Given the description of an element on the screen output the (x, y) to click on. 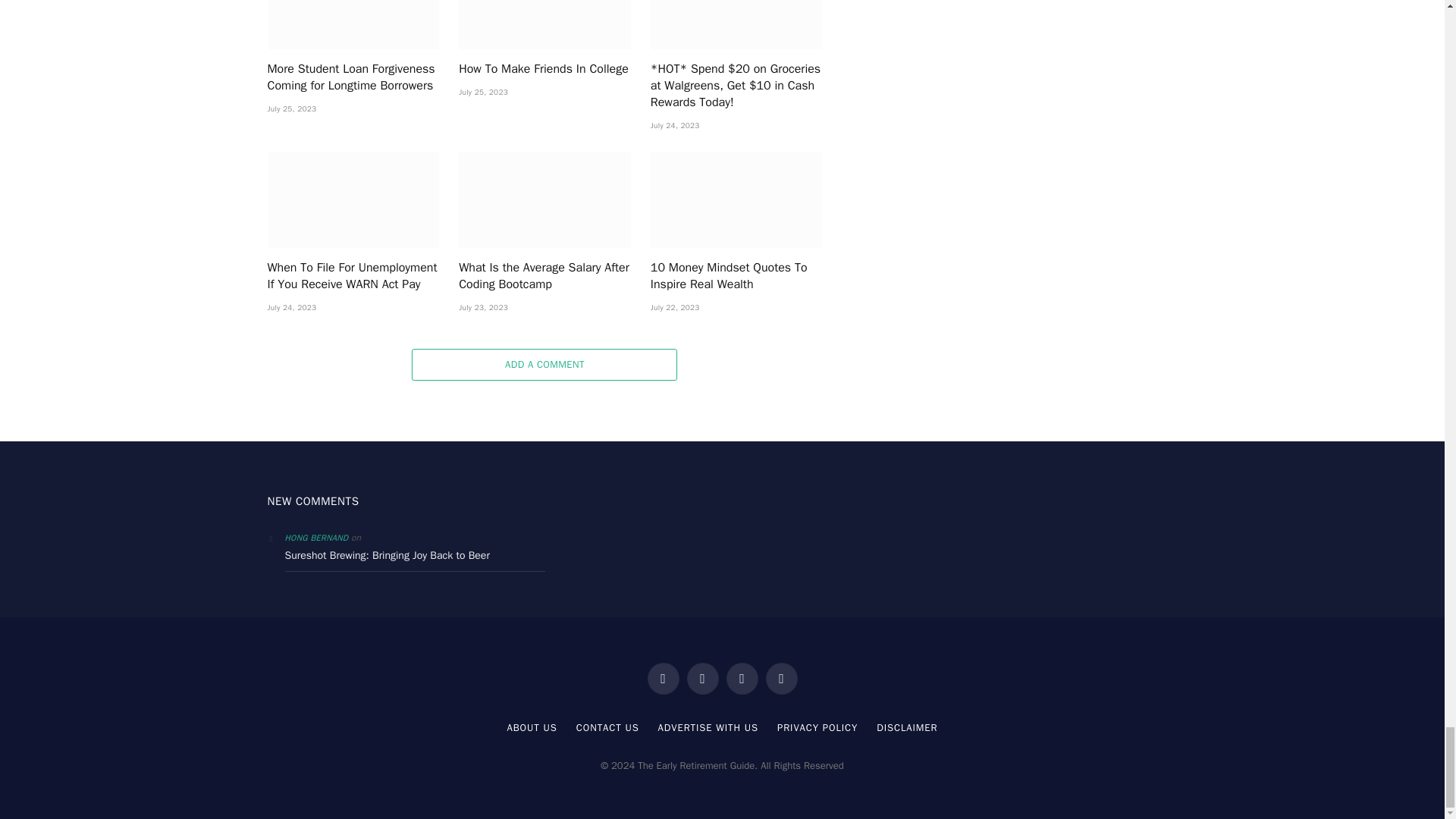
More Student Loan Forgiveness Coming for Longtime Borrowers (352, 24)
How To Make Friends In College (544, 24)
